Given the description of an element on the screen output the (x, y) to click on. 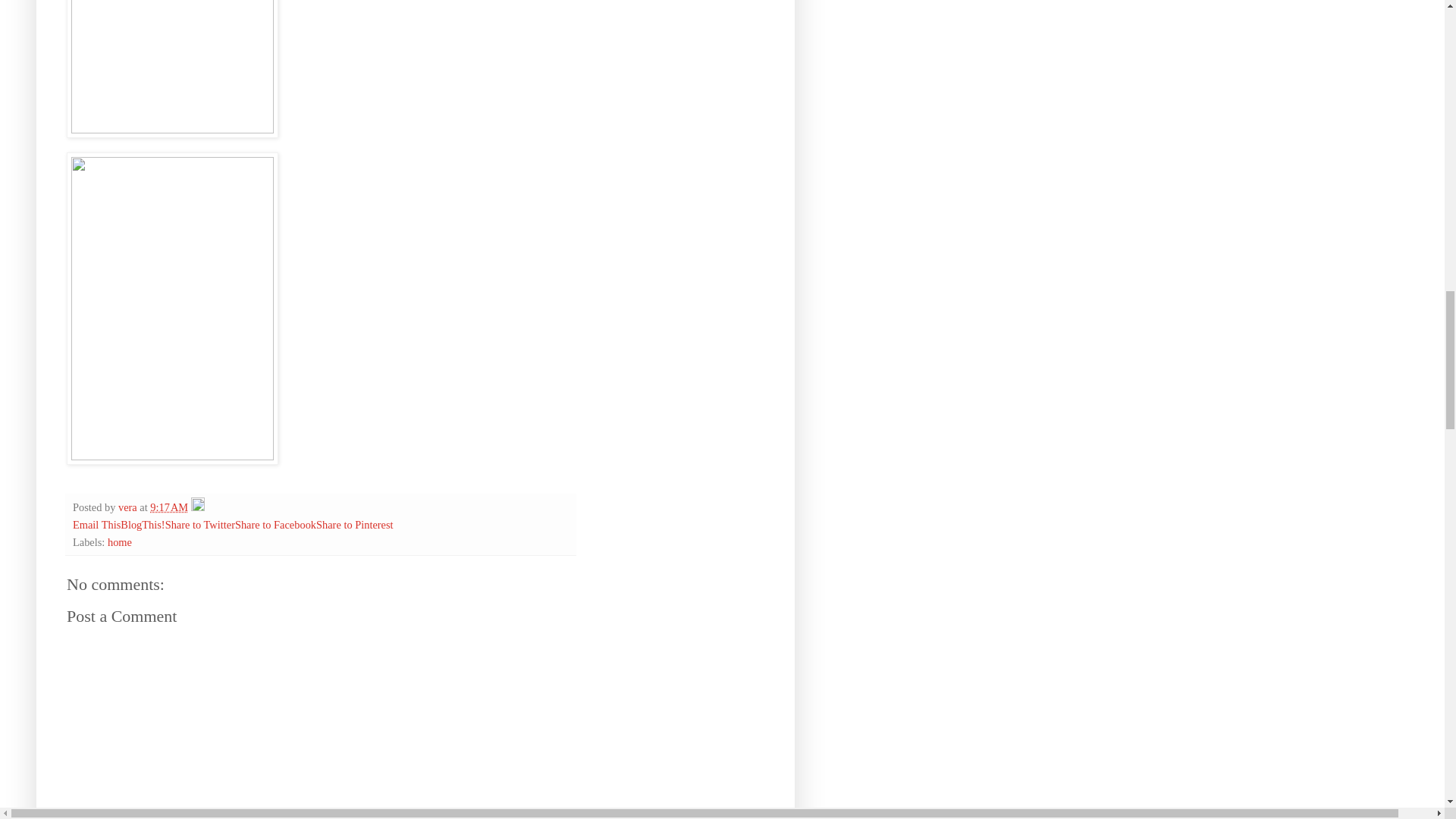
author profile (128, 507)
Share to Facebook (274, 524)
Email This (96, 524)
permanent link (168, 507)
Share to Facebook (274, 524)
Share to Pinterest (354, 524)
Email This (96, 524)
Share to Pinterest (354, 524)
home (119, 541)
Share to Twitter (199, 524)
Share to Twitter (199, 524)
vera (128, 507)
Edit Post (197, 507)
BlogThis! (142, 524)
